Given the description of an element on the screen output the (x, y) to click on. 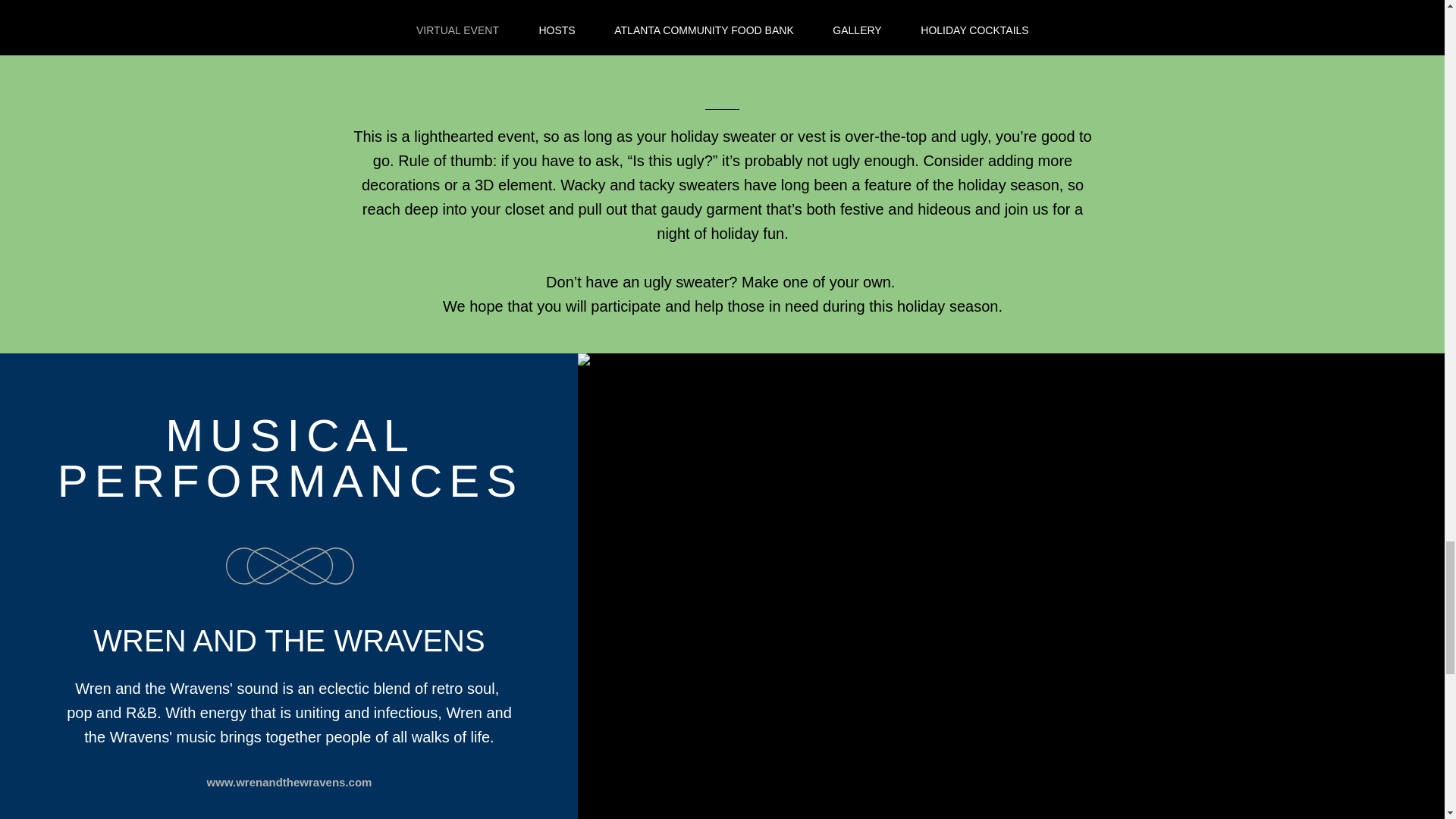
www.wrenandthewravens.com (289, 781)
